Given the description of an element on the screen output the (x, y) to click on. 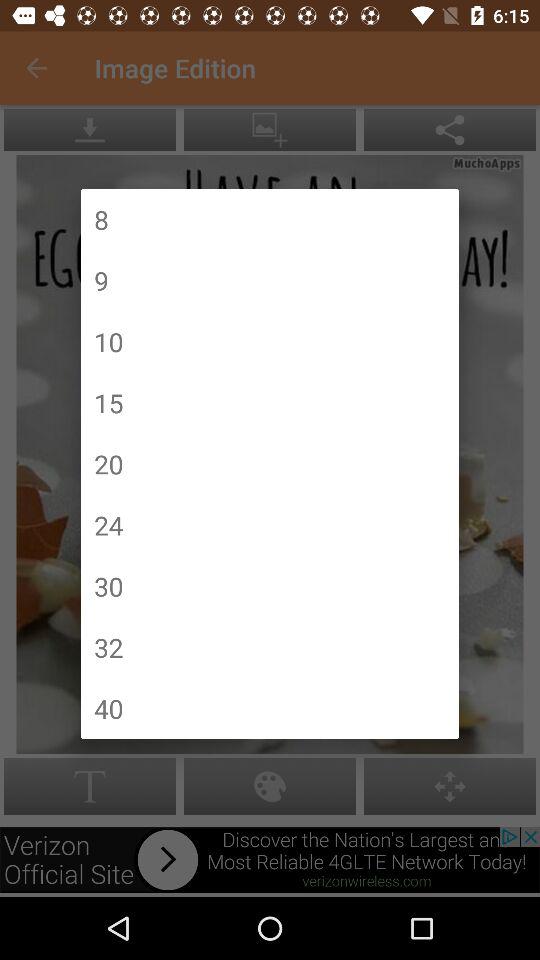
tap icon above the 32 item (108, 585)
